Given the description of an element on the screen output the (x, y) to click on. 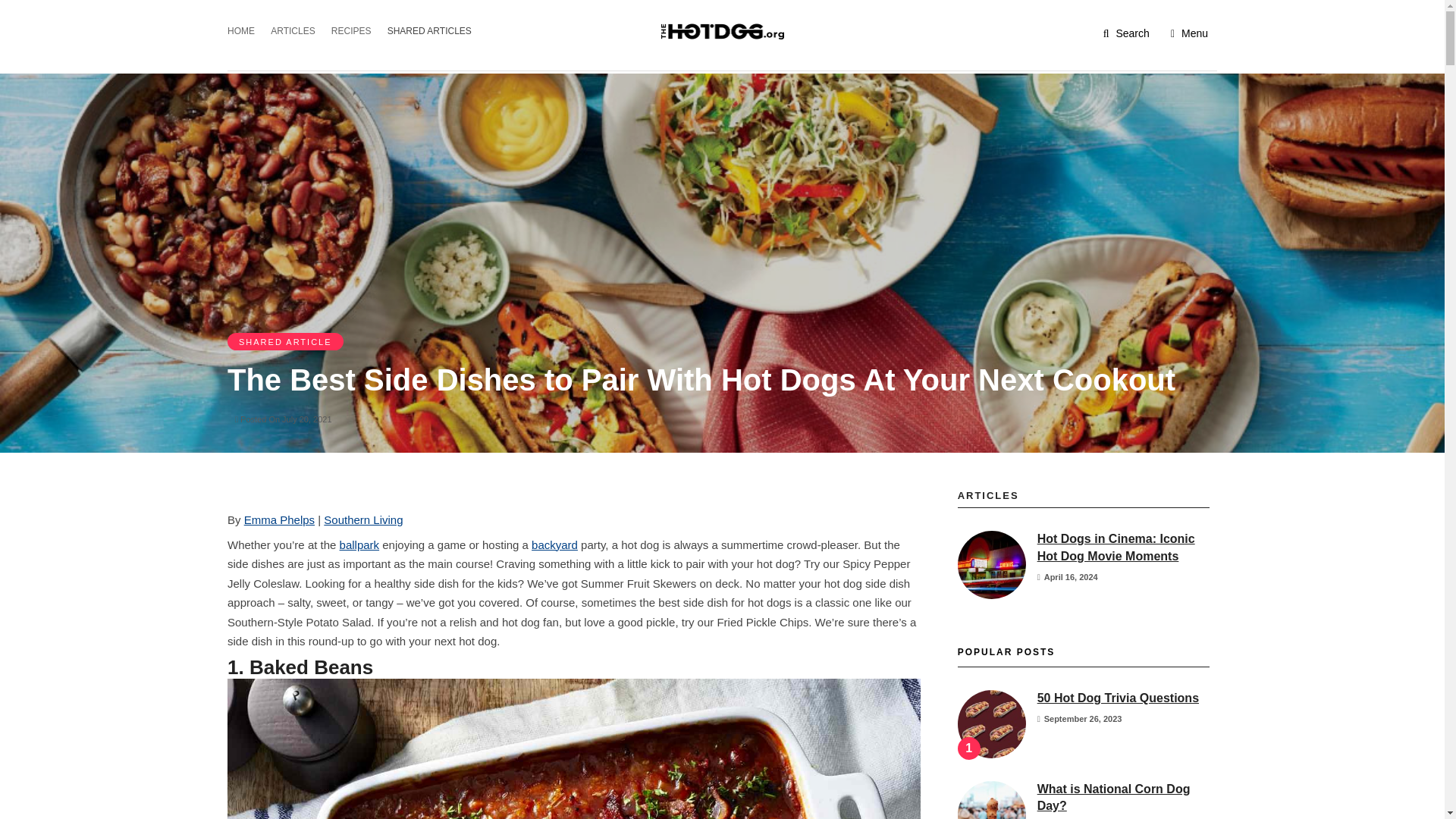
Baked Beans (573, 748)
ARTICLES (296, 29)
Southern Living (363, 518)
Search (1126, 32)
RECIPES (355, 29)
backyard (554, 544)
HOME (245, 29)
SHARED ARTICLES (433, 29)
Emma Phelps (279, 518)
ballpark (359, 544)
